Given the description of an element on the screen output the (x, y) to click on. 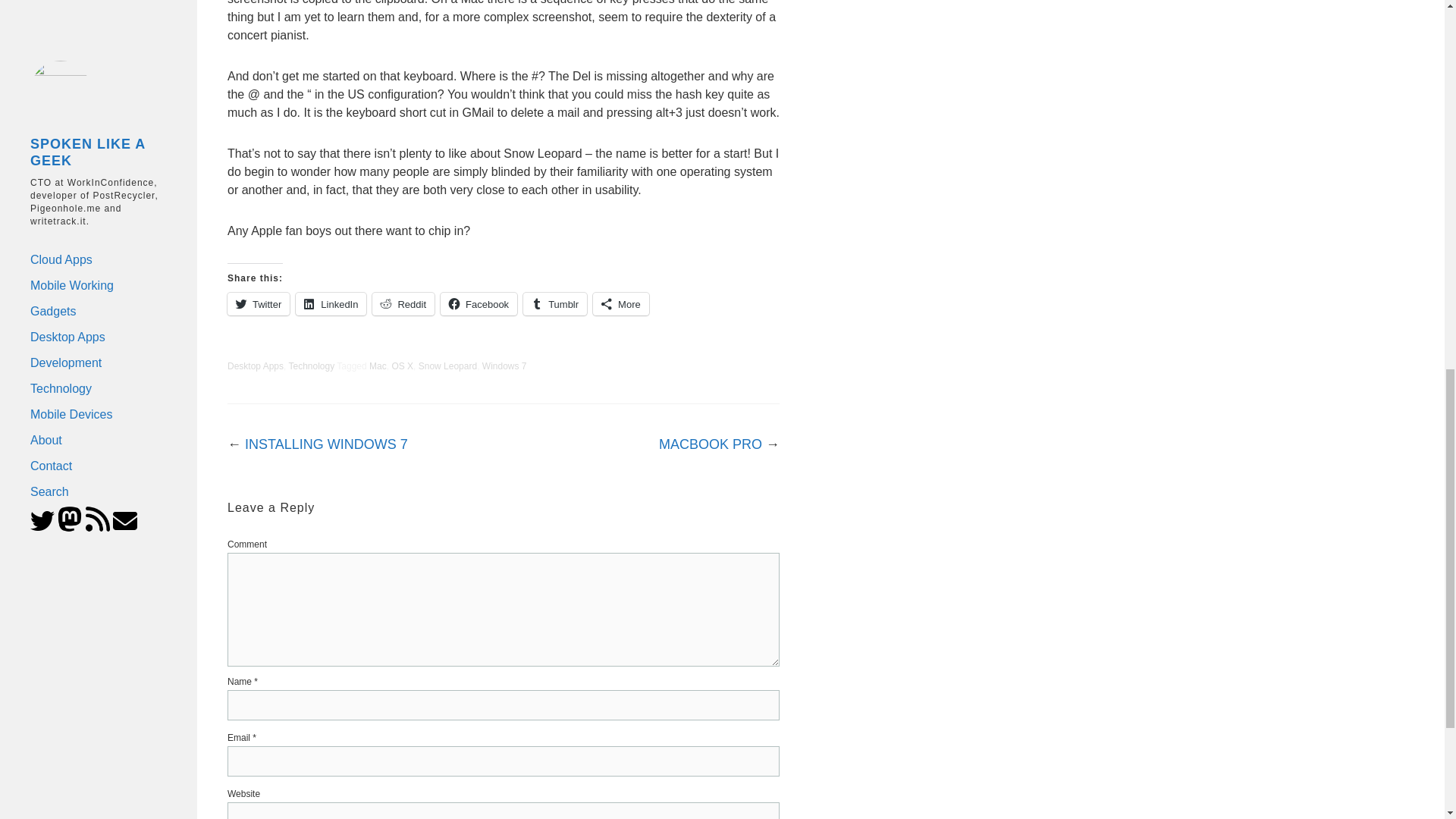
Click to share on Reddit (402, 303)
LinkedIn (330, 303)
Click to share on LinkedIn (330, 303)
Facebook (478, 303)
INSTALLING WINDOWS 7 (325, 444)
Desktop Apps (255, 366)
OS X (402, 366)
Tumblr (554, 303)
Technology (311, 366)
More (620, 303)
